Given the description of an element on the screen output the (x, y) to click on. 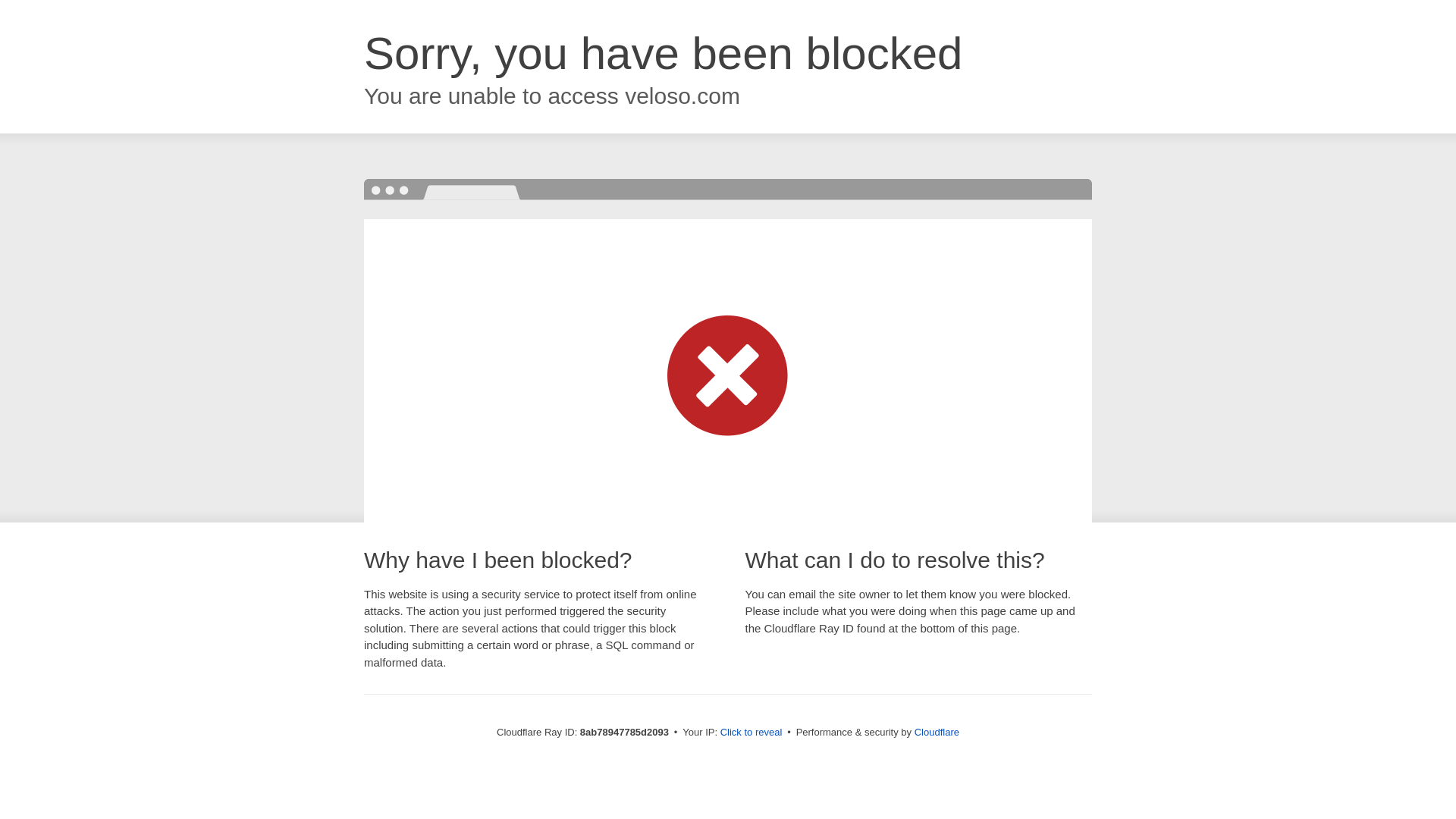
Click to reveal (751, 732)
Cloudflare (936, 731)
